Given the description of an element on the screen output the (x, y) to click on. 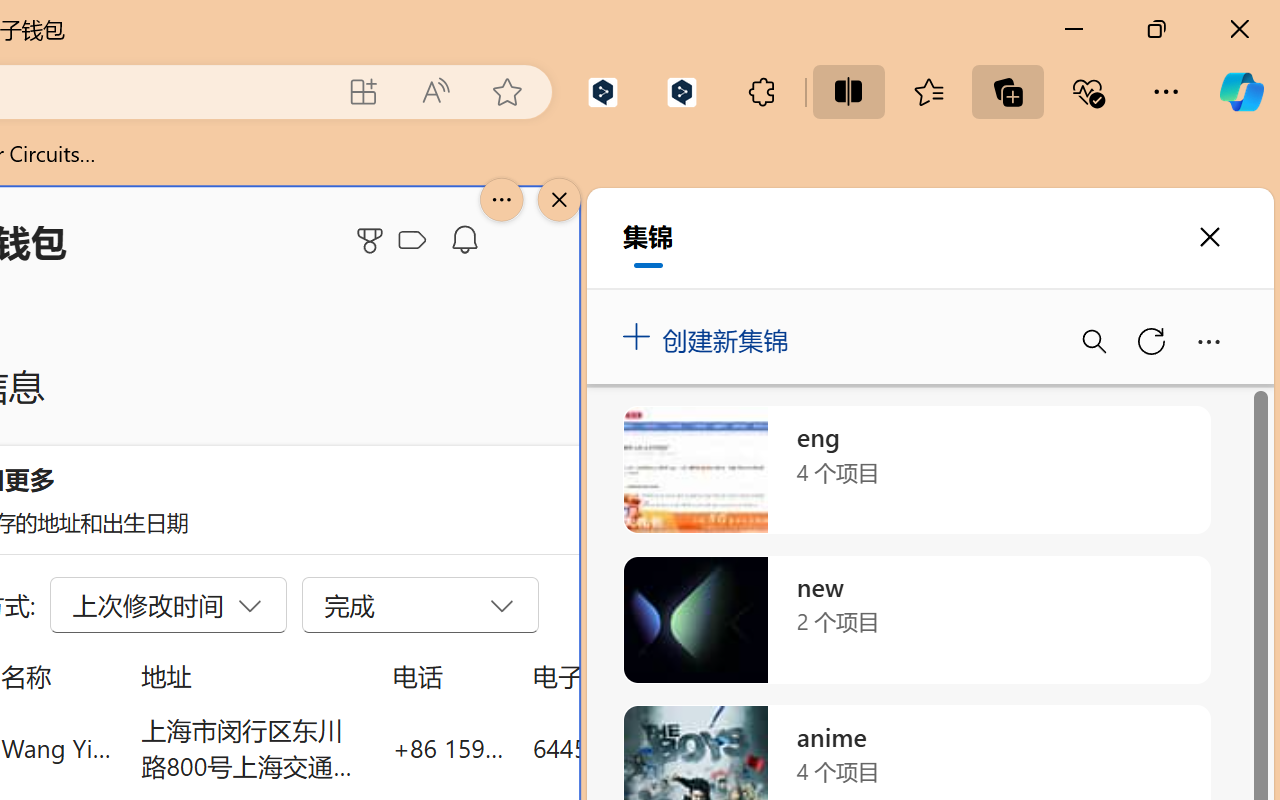
+86 159 0032 4640 (447, 747)
